Given the description of an element on the screen output the (x, y) to click on. 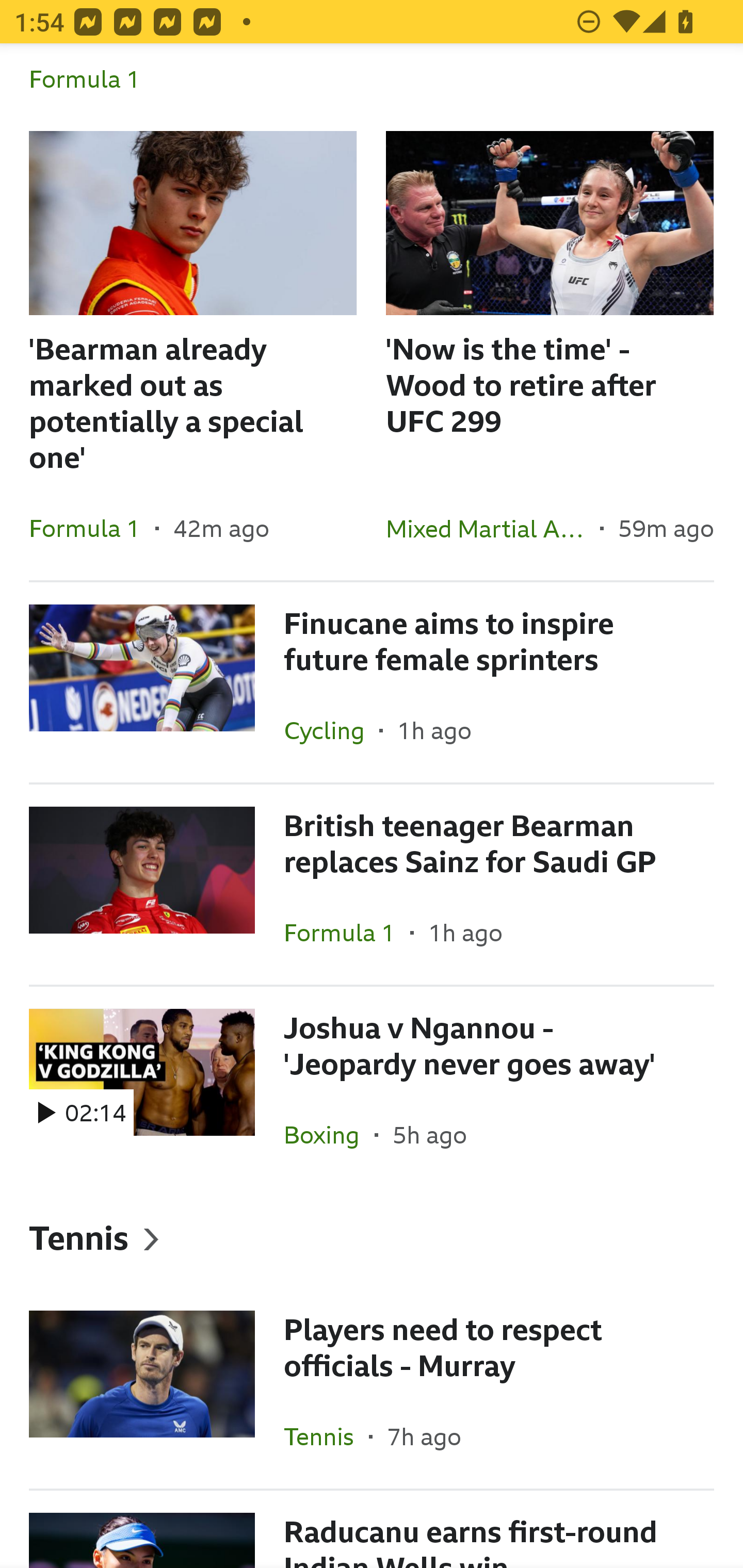
Formula 1 In the section Formula 1 (371, 87)
Tennis, Heading Tennis    (371, 1237)
